Given the description of an element on the screen output the (x, y) to click on. 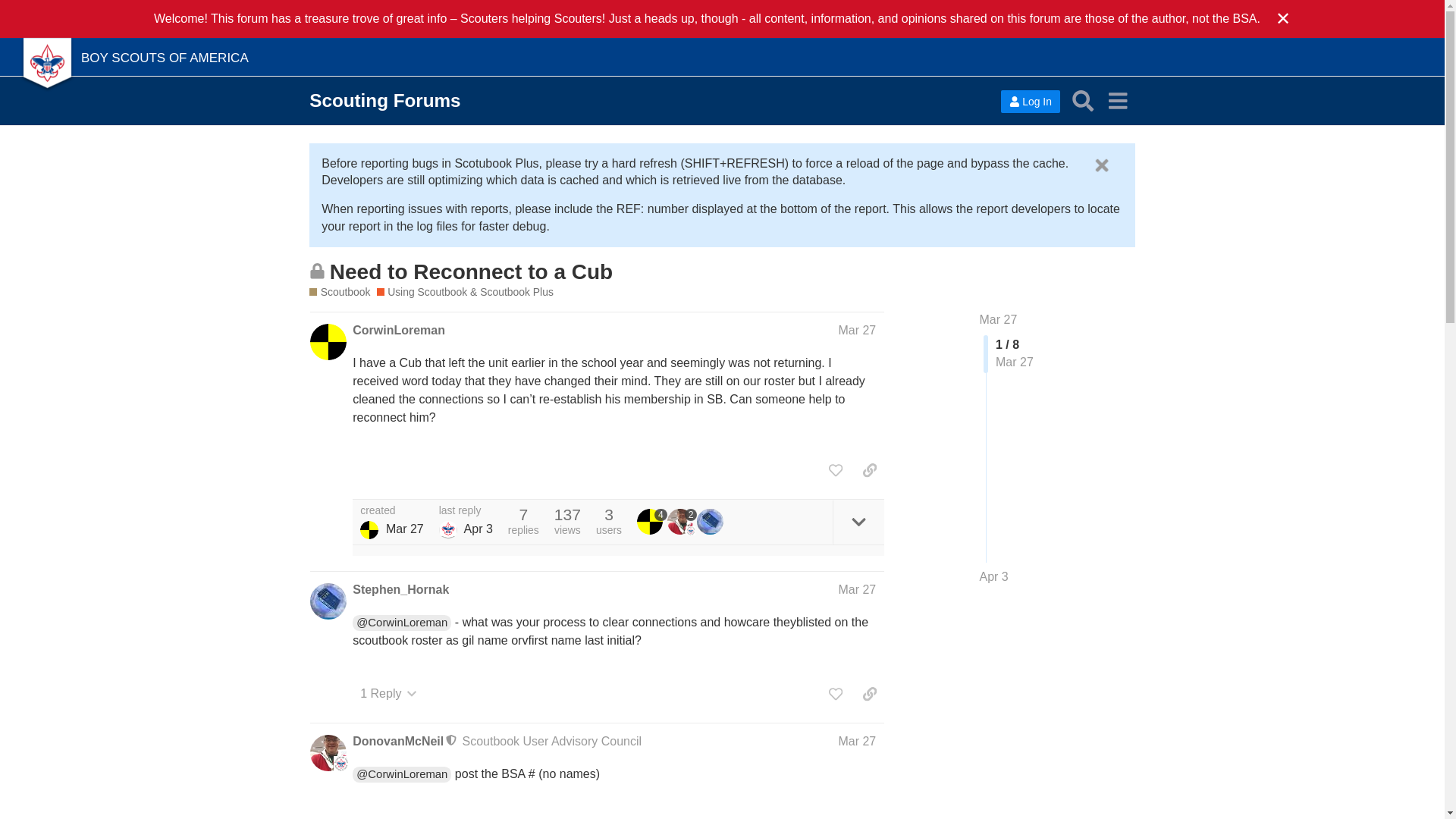
Mar 27 (857, 740)
Log In (1030, 101)
Topics related to the use of Scoutbook can be addressed here (338, 292)
Corwin Loreman (368, 529)
Jump to the last post (994, 576)
4 (651, 521)
Mar 27 (857, 329)
like this post (835, 470)
Post date (857, 329)
Scoutbook User Advisory Council (552, 740)
last reply (466, 511)
Scouting Forums (384, 100)
Dismiss this banner (1101, 165)
Mar 27 (857, 589)
This topic is closed; it no longer accepts new replies (316, 270)
